Given the description of an element on the screen output the (x, y) to click on. 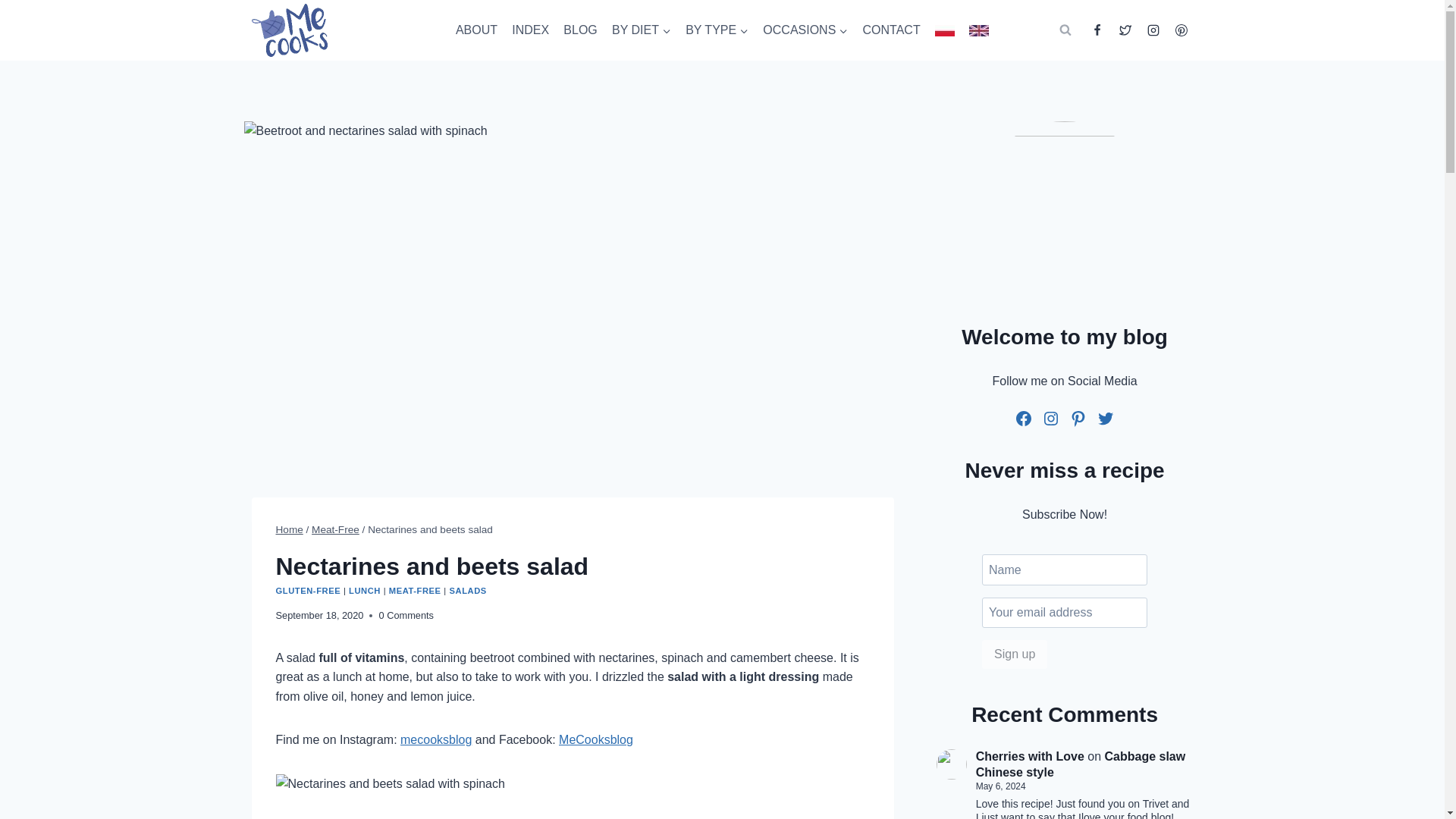
BY DIET (641, 30)
OCCASIONS (805, 30)
CONTACT (891, 30)
BY TYPE (716, 30)
INDEX (530, 30)
ABOUT (475, 30)
Sign up (1013, 654)
0 Comments (405, 615)
BLOG (580, 30)
